Given the description of an element on the screen output the (x, y) to click on. 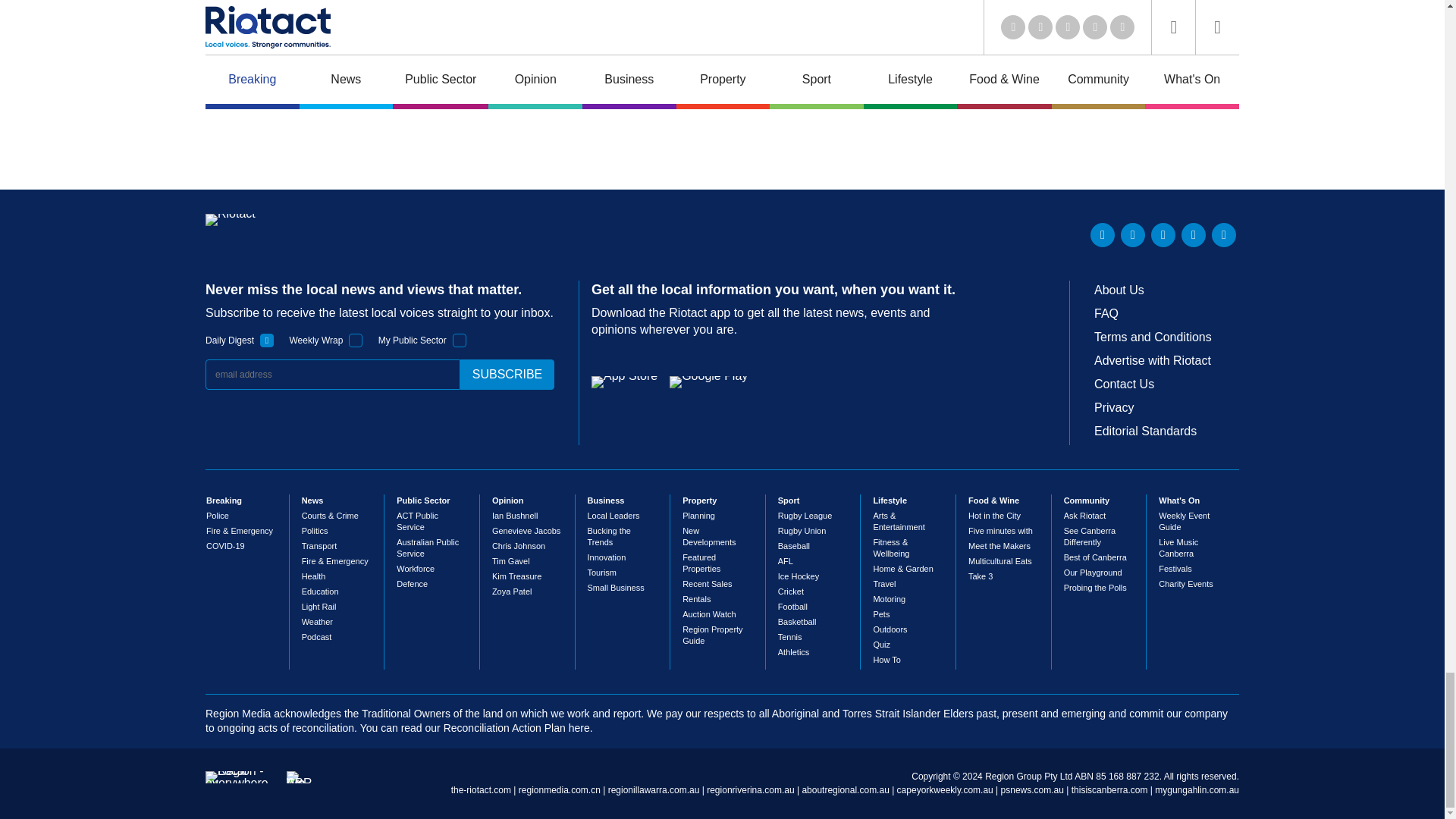
subscribe (507, 374)
1 (458, 340)
1 (266, 340)
LinkedIn (1102, 234)
1 (355, 340)
